Given the description of an element on the screen output the (x, y) to click on. 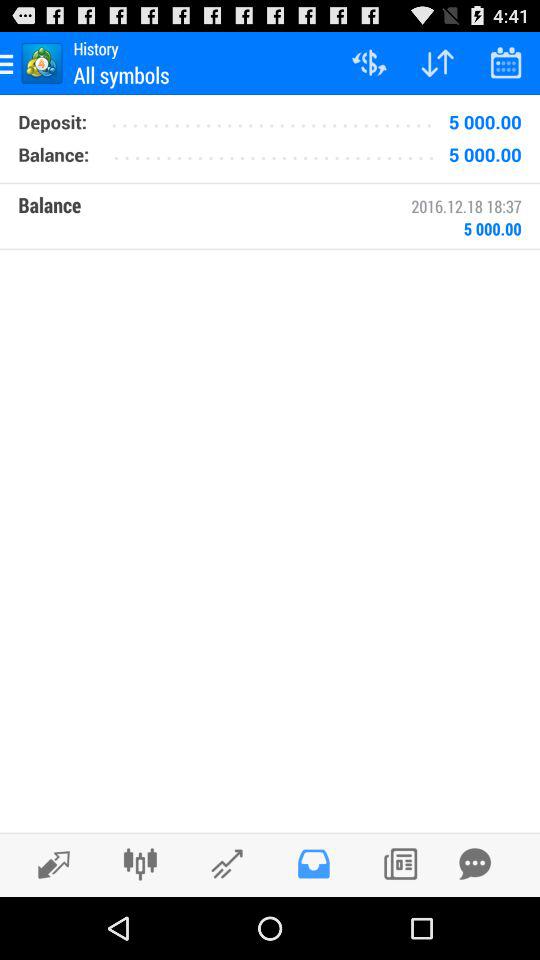
chat with us (475, 864)
